Given the description of an element on the screen output the (x, y) to click on. 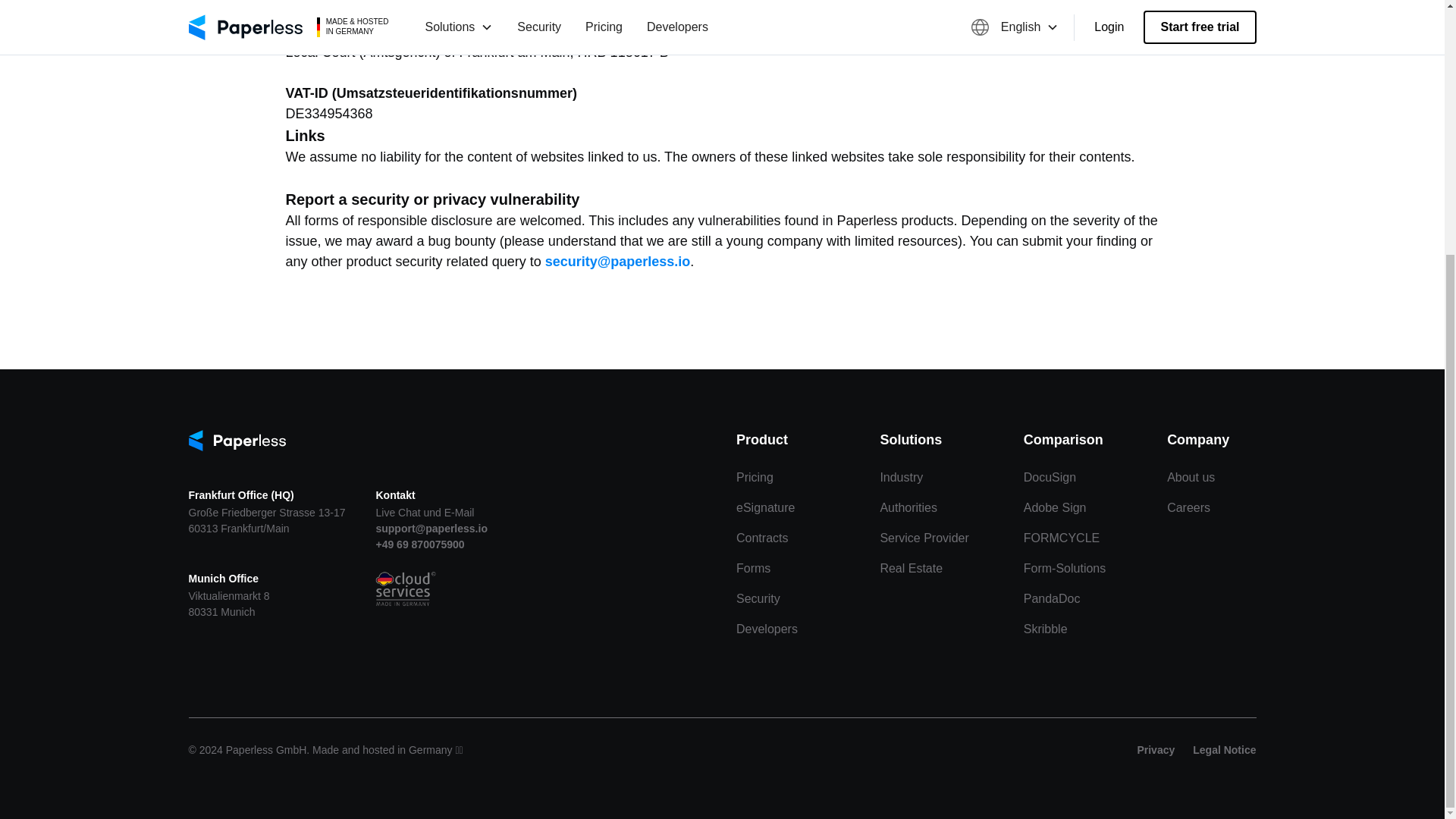
Pricing (754, 477)
Security (758, 598)
Industry (901, 477)
Service Provider (923, 538)
Contracts (761, 538)
Form-Solutions (1064, 568)
PandaDoc (1051, 598)
Developers (766, 629)
eSignature (765, 508)
Forms (753, 568)
Adobe Sign (1054, 508)
FORMCYCLE (1061, 538)
Real Estate (910, 568)
DocuSign (1049, 477)
Authorities (908, 508)
